Given the description of an element on the screen output the (x, y) to click on. 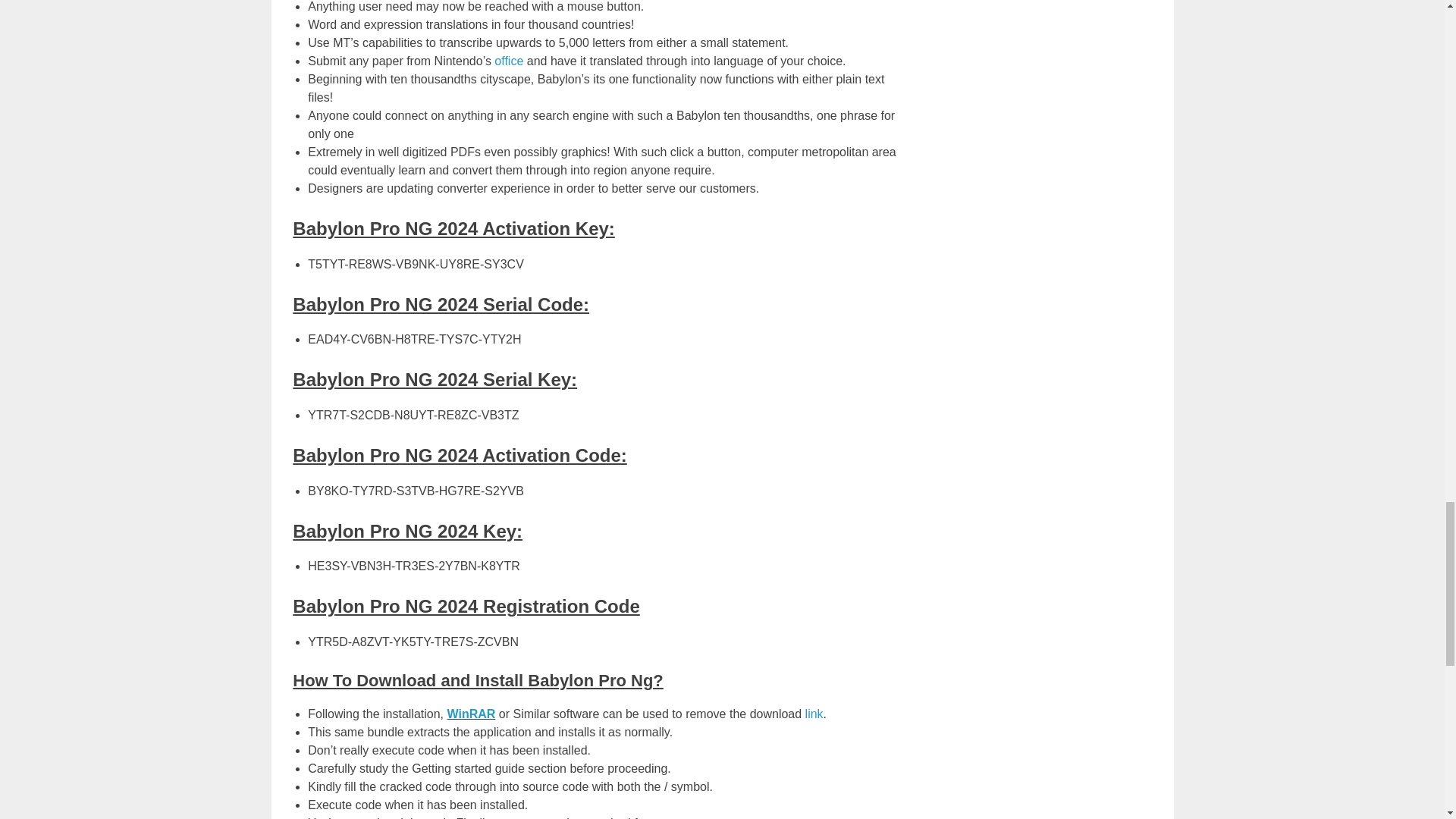
office (508, 60)
link (814, 713)
WinRAR (471, 713)
